Given the description of an element on the screen output the (x, y) to click on. 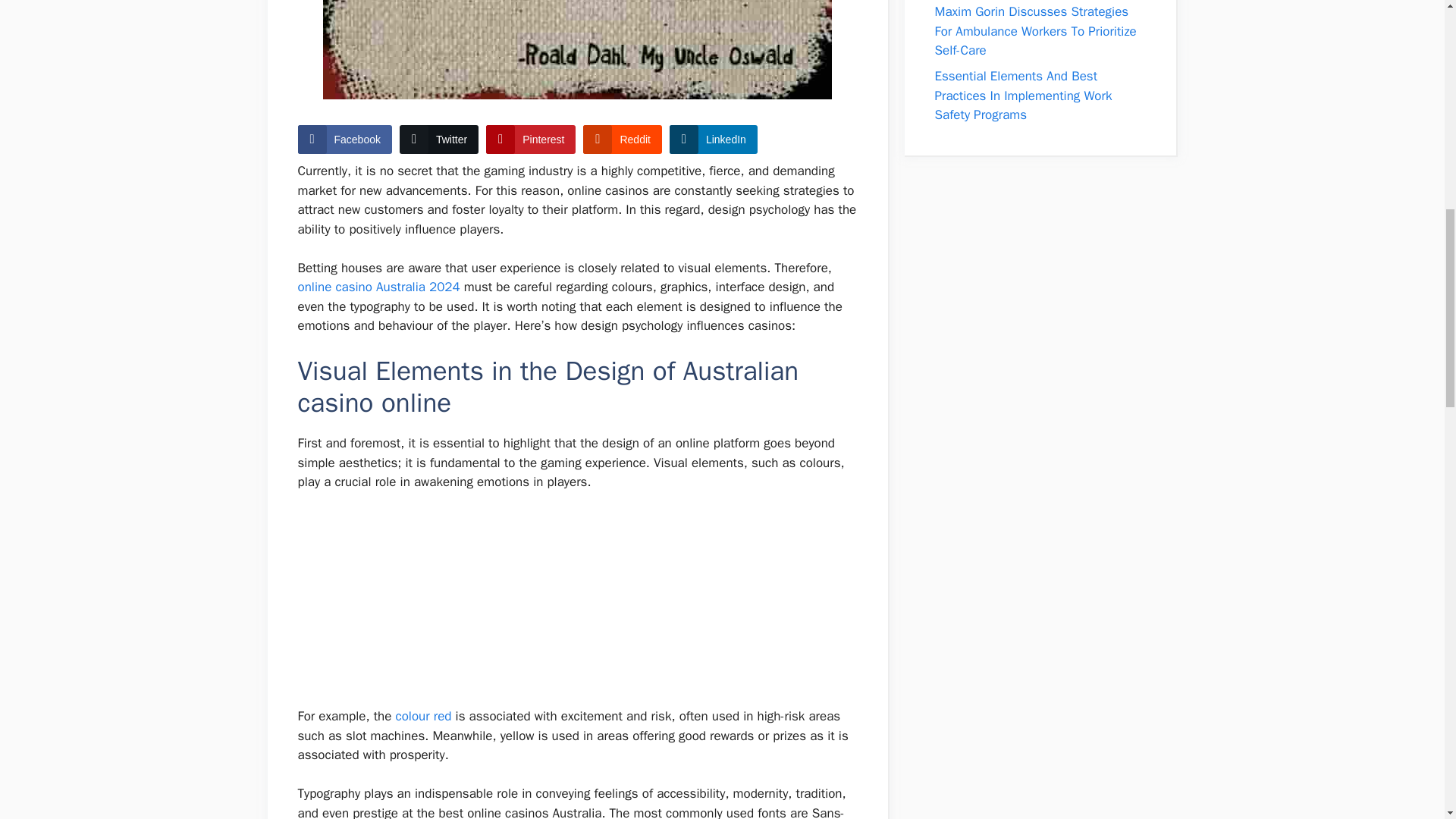
Pinterest (530, 139)
online casino Australia 2024 (378, 286)
LinkedIn (713, 139)
Facebook (344, 139)
colour red (423, 715)
Reddit (622, 139)
Twitter (438, 139)
